Given the description of an element on the screen output the (x, y) to click on. 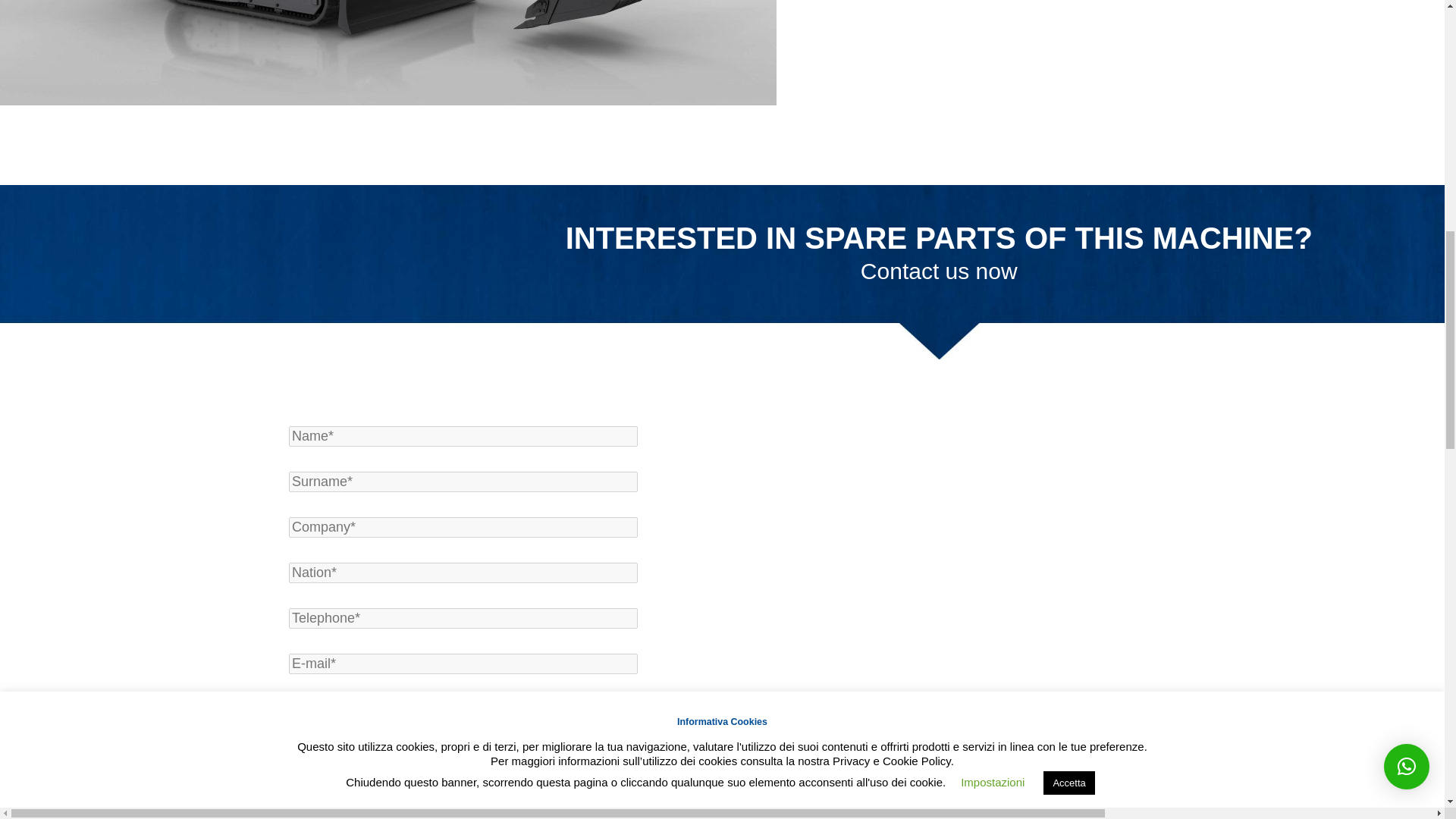
8 (976, 769)
12 (492, 798)
11 (411, 798)
5 (734, 769)
10 (331, 798)
0 (331, 769)
3 (572, 769)
2 (492, 769)
4 (652, 769)
9 (1056, 769)
6 (814, 769)
1 (411, 769)
7 (894, 769)
